Given the description of an element on the screen output the (x, y) to click on. 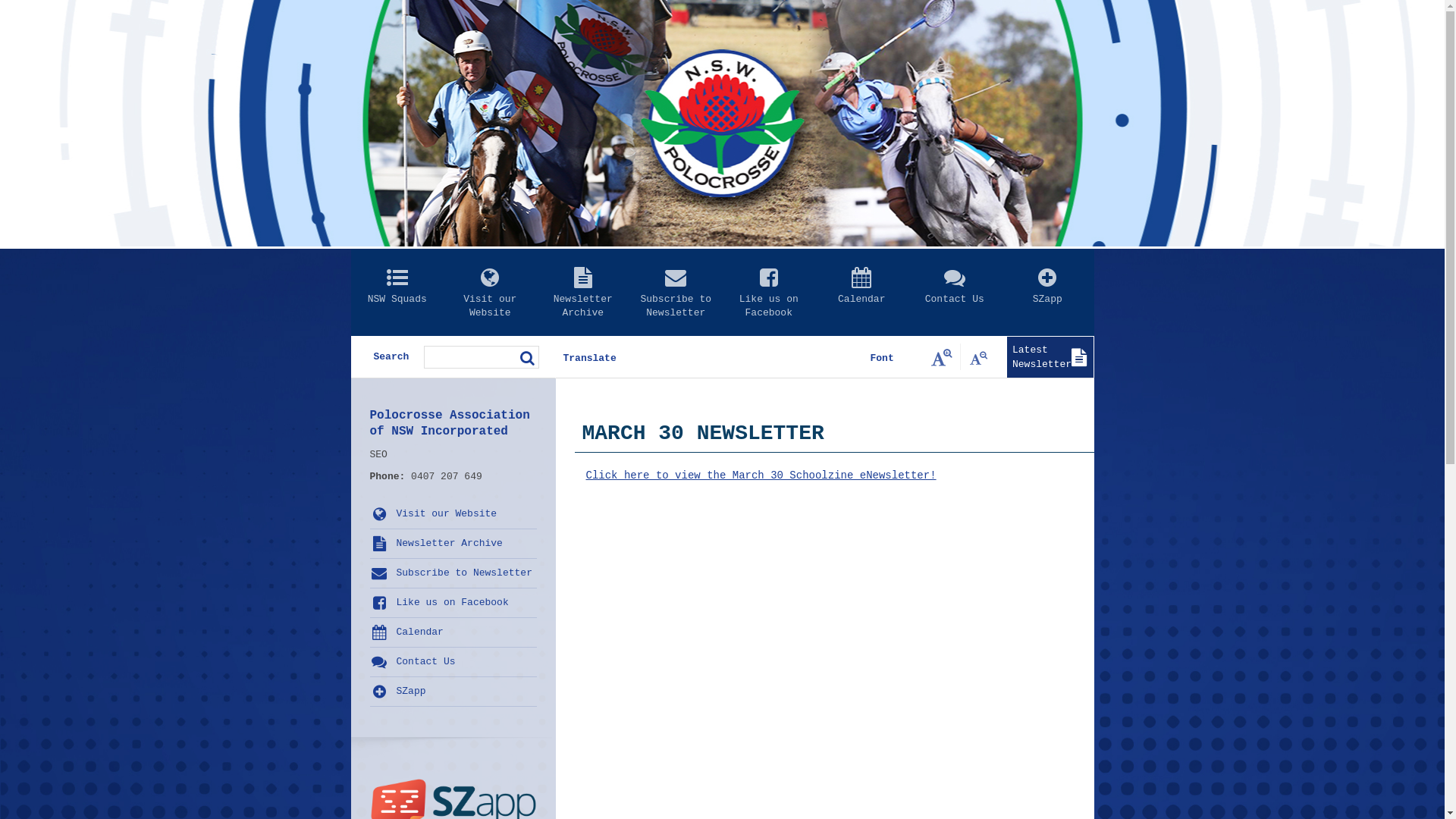
Visit our Website Element type: text (453, 513)
Calendar Element type: text (453, 632)
Newsletter Archive Element type: text (583, 303)
Click here to view the March 30 Schoolzine eNewsletter! Element type: text (760, 475)
Latest Newsletter Element type: text (1050, 357)
Visit our Website Element type: text (489, 303)
Like us on Facebook Element type: text (768, 303)
Subscribe to Newsletter Element type: text (453, 572)
Contact Us Element type: text (954, 303)
SZapp Element type: text (453, 691)
Like us on Facebook Element type: text (453, 602)
Calendar Element type: text (861, 303)
Newsletter Archive Element type: text (453, 543)
Subscribe to Newsletter Element type: text (675, 303)
NSW Squads Element type: text (396, 303)
Contact Us Element type: text (453, 661)
SZapp Element type: text (1047, 303)
